Given the description of an element on the screen output the (x, y) to click on. 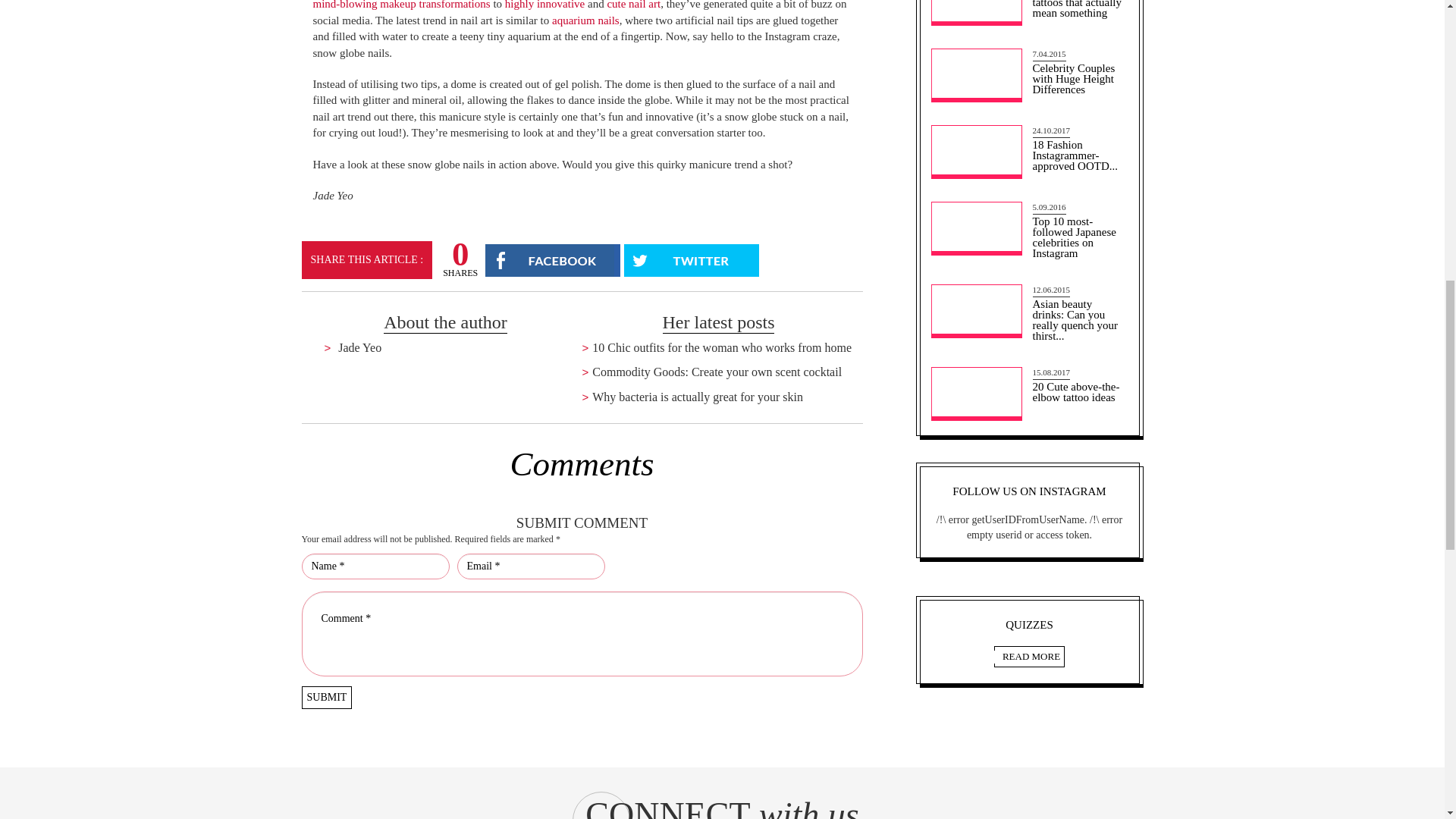
20 French word tattoos that actually mean something (1078, 10)
Celebrity Couples with Huge Height Differences (1078, 72)
Submit (326, 697)
20 Cute above-the-elbow tattoo ideas (1078, 385)
Top 10 most-followed Japanese celebrities on Instagram (1078, 231)
